Given the description of an element on the screen output the (x, y) to click on. 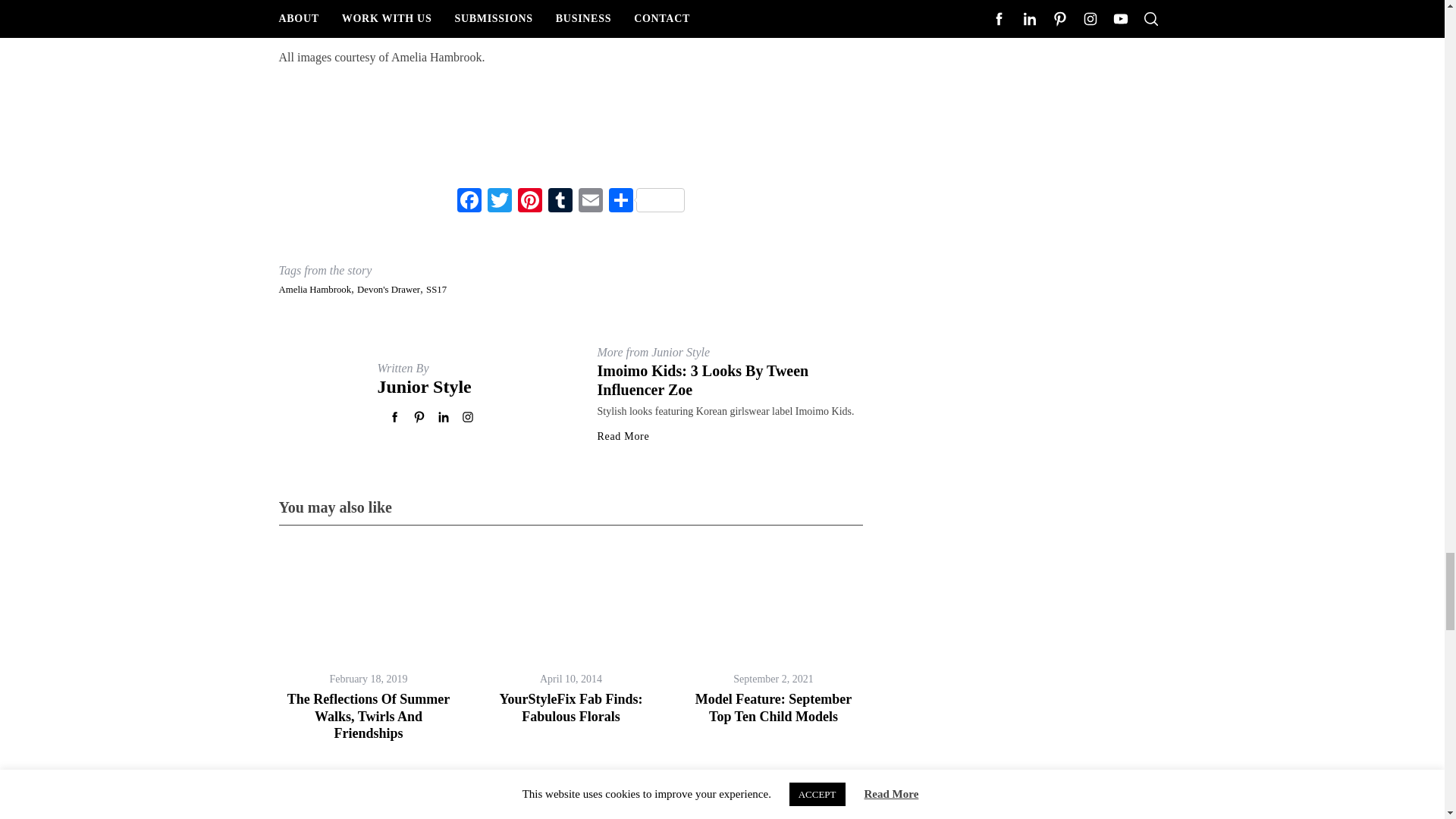
Facebook (467, 202)
Email (590, 202)
Twitter (498, 202)
Tumblr (559, 202)
Pinterest (528, 202)
